Given the description of an element on the screen output the (x, y) to click on. 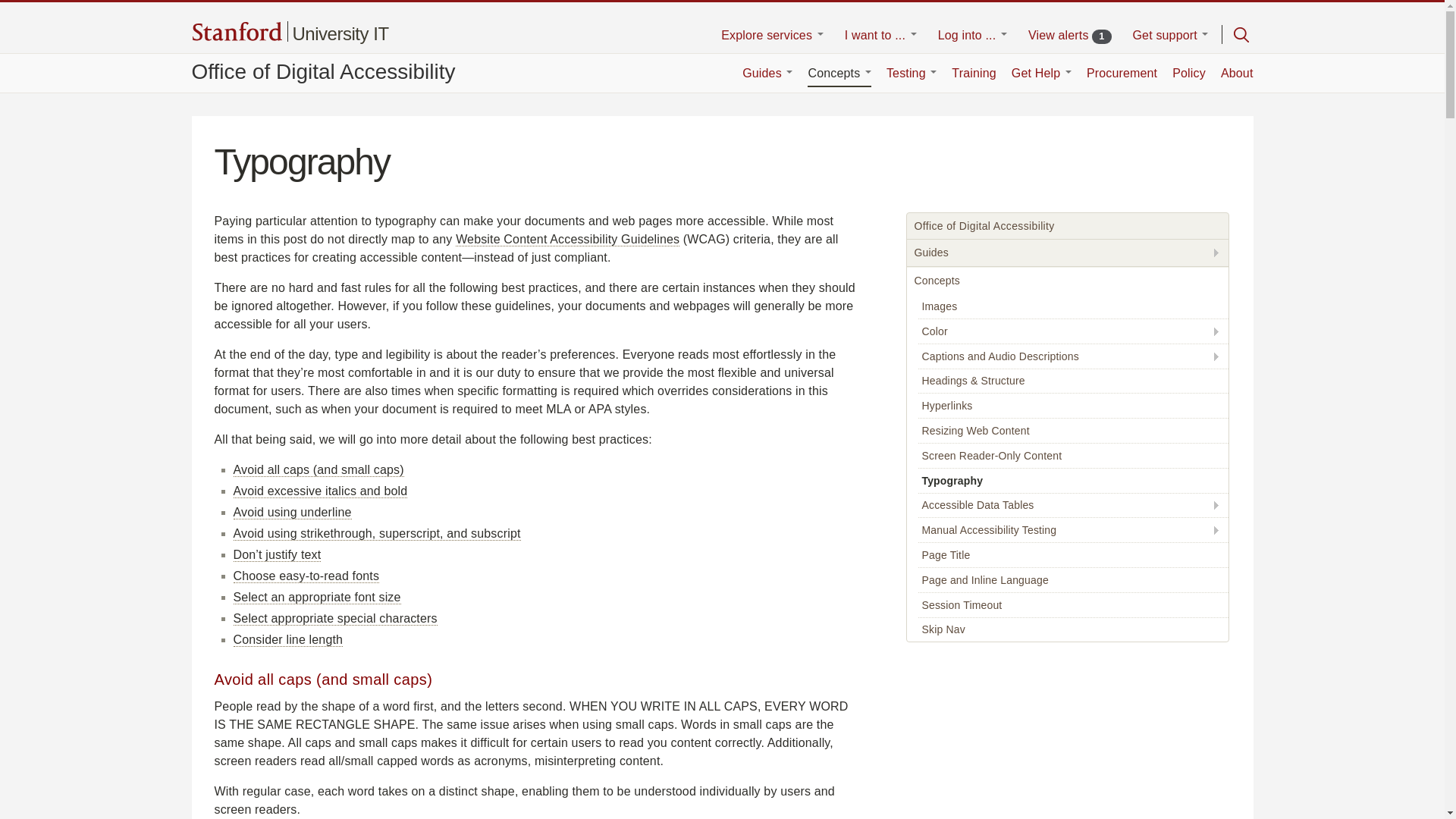
Open Search (1241, 34)
Get support (1069, 36)
Office of Digital Accessibility (1170, 36)
University IT (322, 71)
Skip to service navigation (340, 33)
Home (772, 36)
Home (236, 33)
Log into ... (340, 33)
I want to ... (972, 36)
